Given the description of an element on the screen output the (x, y) to click on. 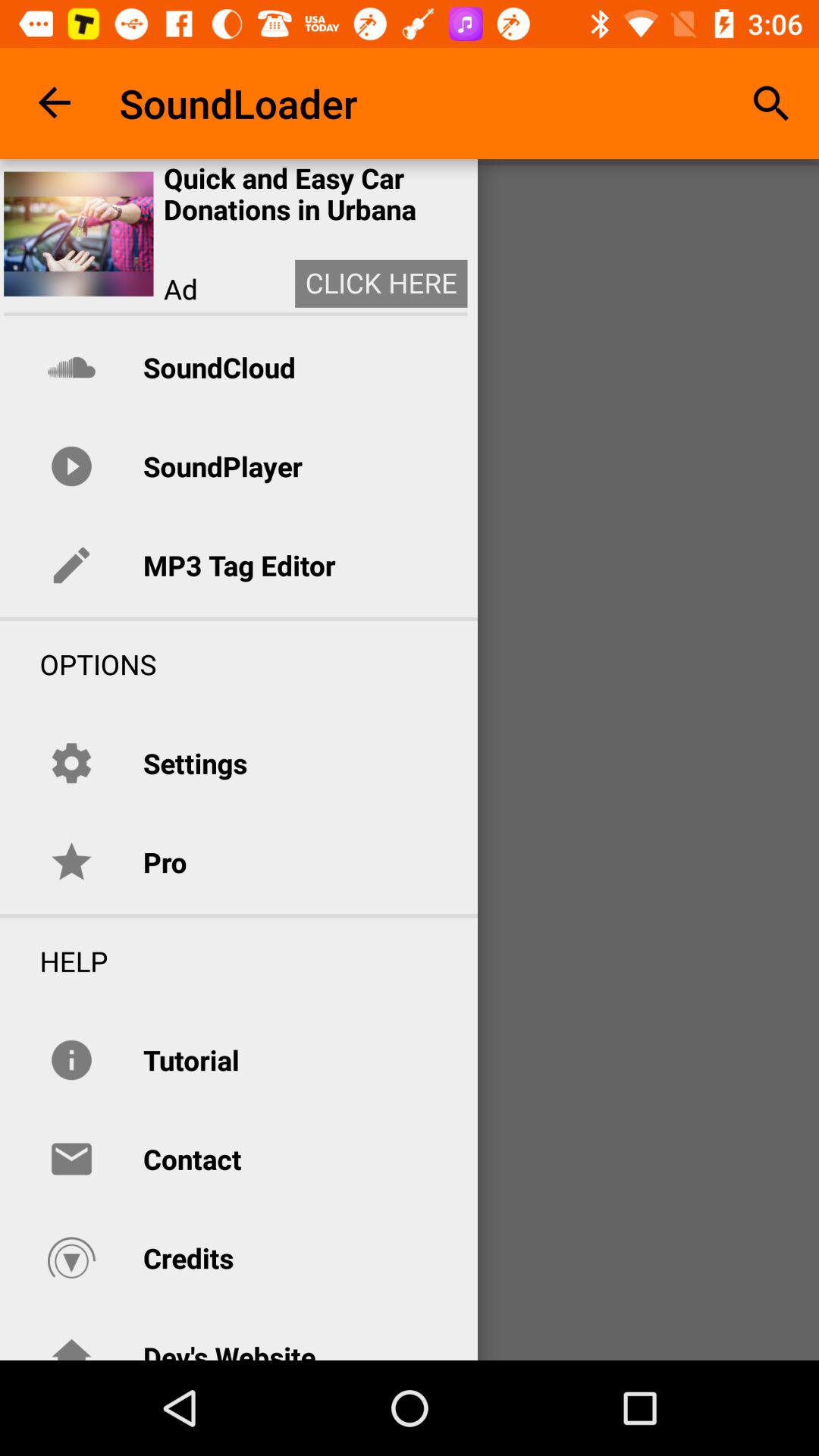
swipe until the options (78, 664)
